Given the description of an element on the screen output the (x, y) to click on. 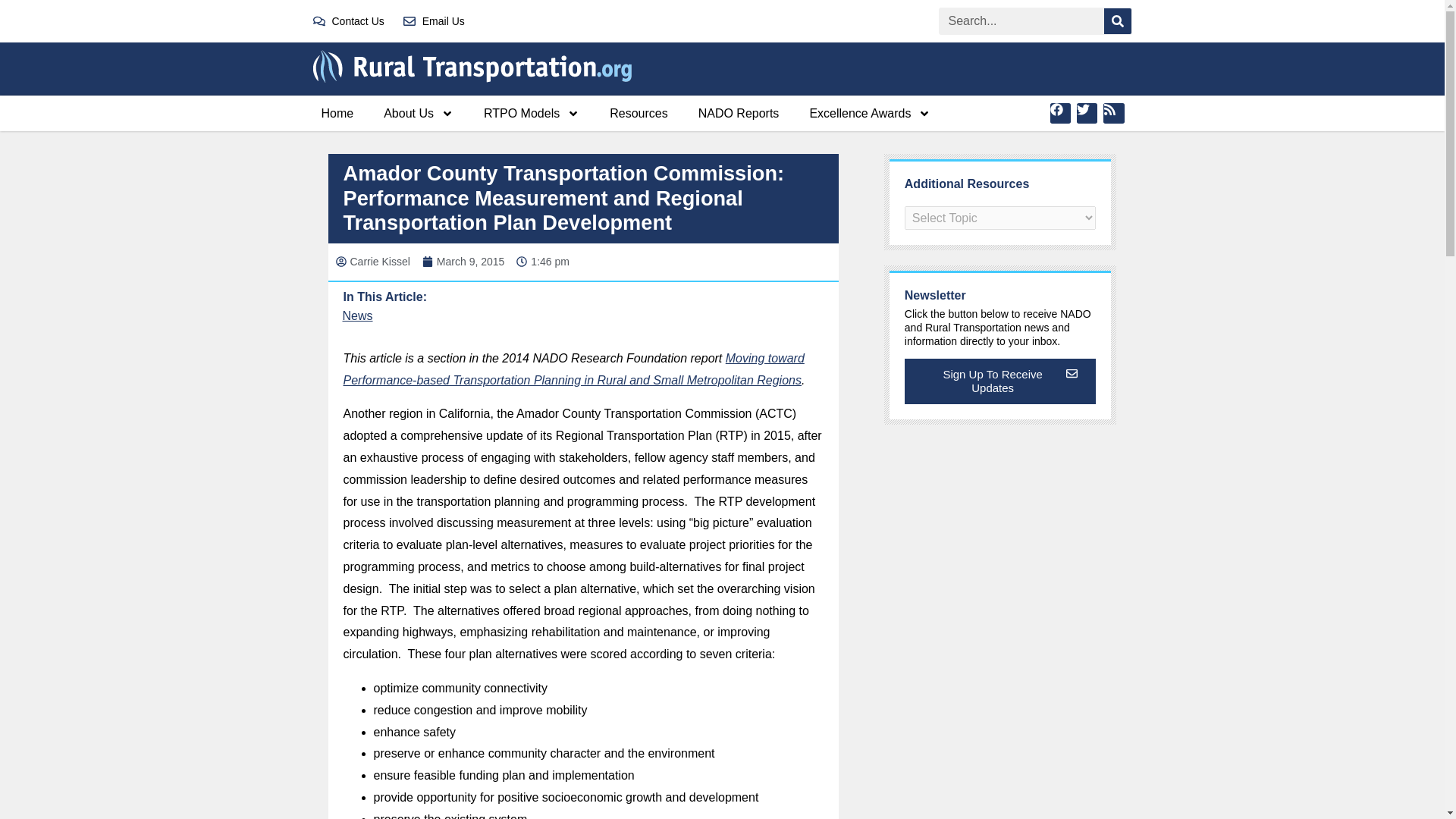
NADO Reports (738, 113)
Excellence Awards (868, 113)
March 9, 2015 (463, 261)
Email Us (433, 21)
News (357, 315)
About Us (418, 113)
Carrie Kissel (371, 261)
Contact Us (348, 21)
RTPO Models (531, 113)
